Given the description of an element on the screen output the (x, y) to click on. 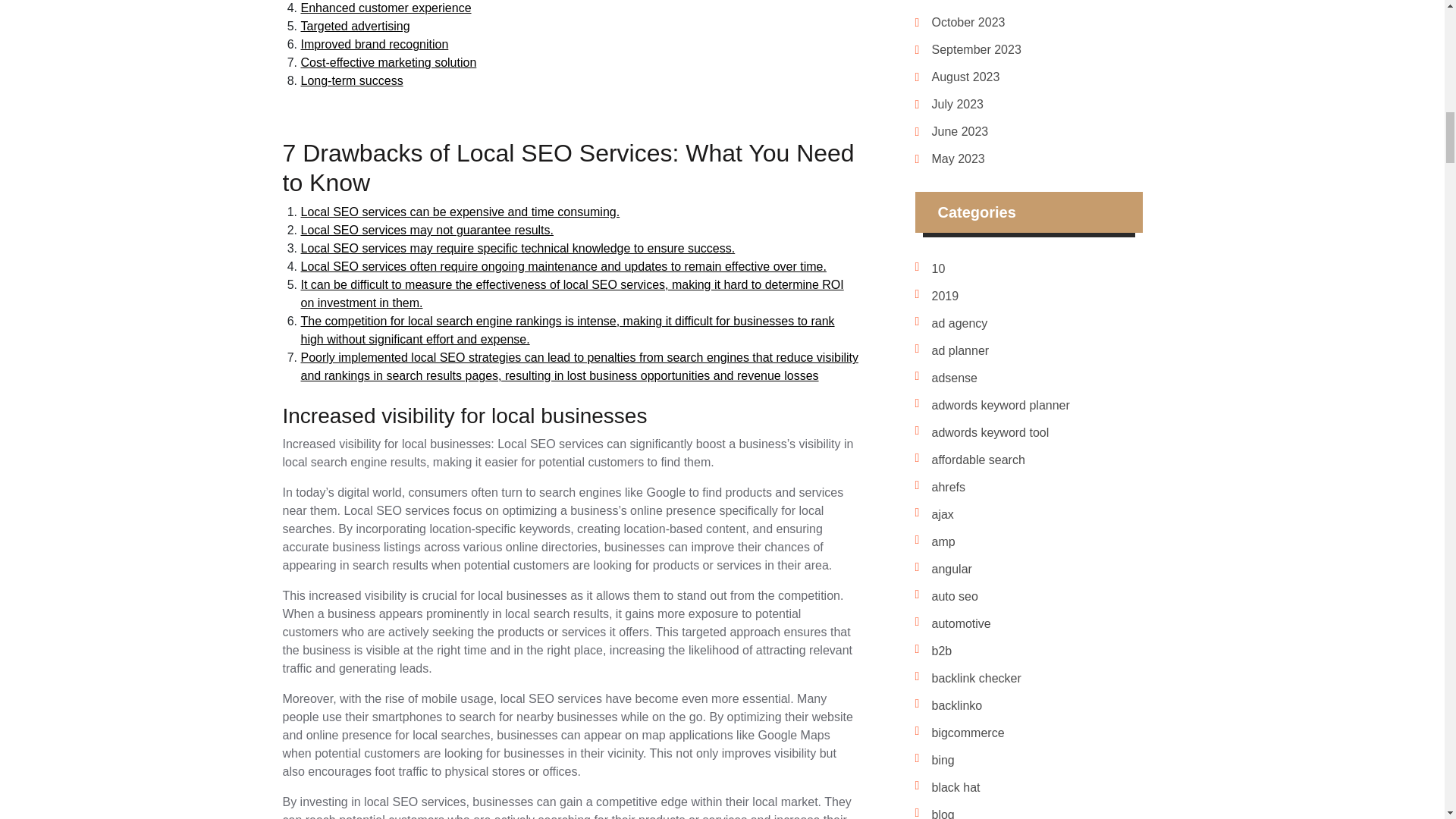
Enhanced customer experience (384, 7)
Cost-effective marketing solution (387, 62)
Local SEO services can be expensive and time consuming. (459, 211)
Local SEO services may not guarantee results. (426, 229)
Improved brand recognition (373, 43)
Long-term success (351, 80)
Targeted advertising (354, 25)
